Given the description of an element on the screen output the (x, y) to click on. 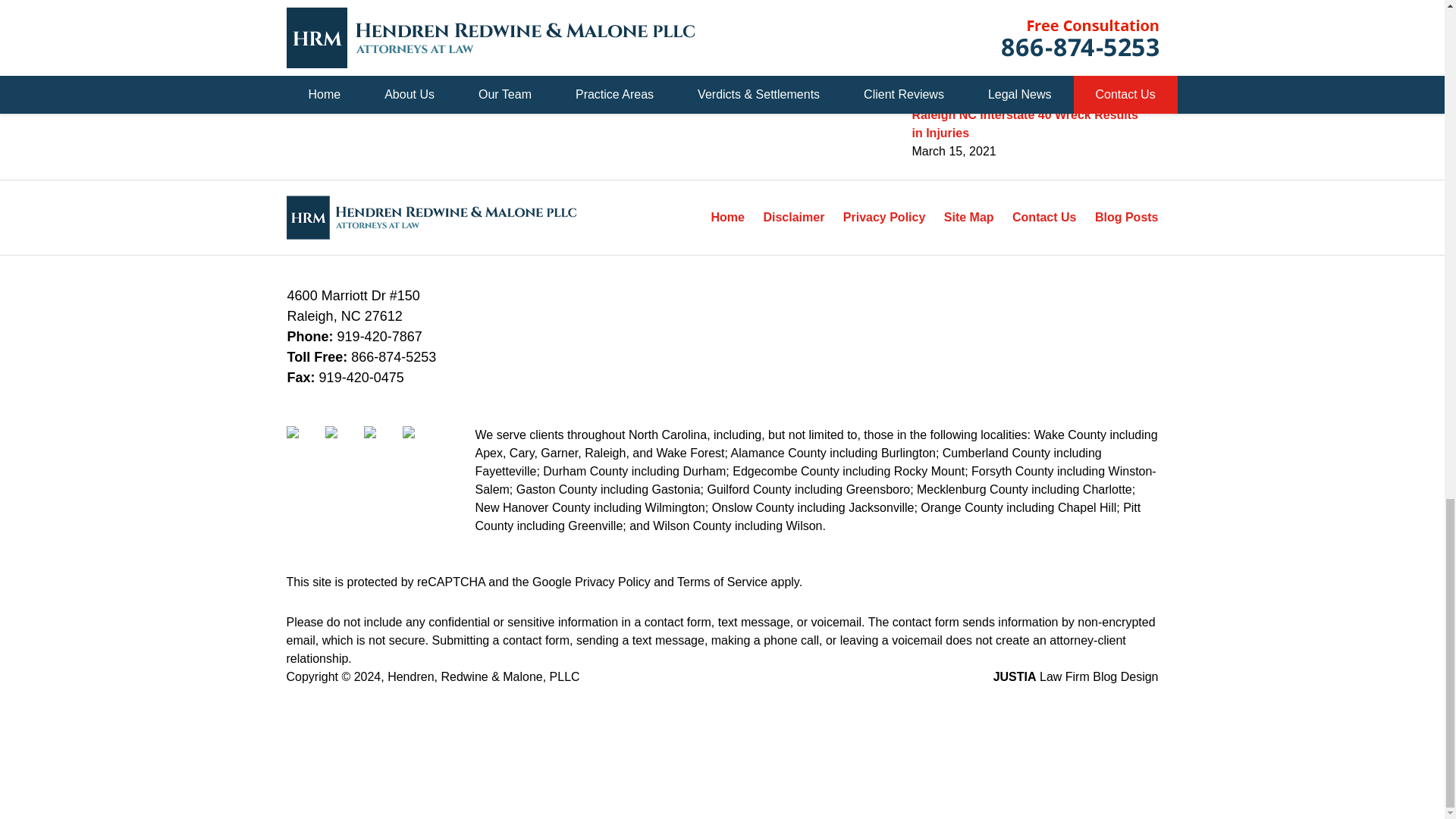
LinkedIn (341, 431)
Facebook (303, 431)
Feed (418, 431)
Justia (381, 431)
